Given the description of an element on the screen output the (x, y) to click on. 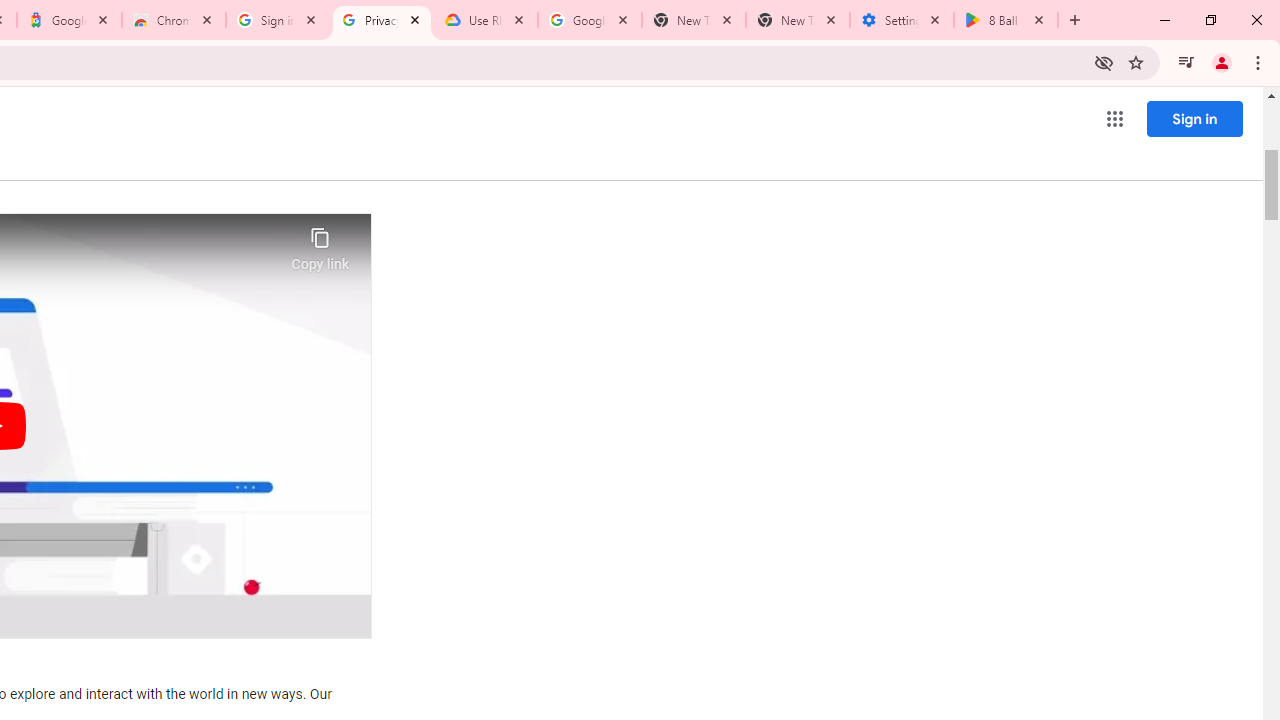
Settings - System (901, 20)
Copy link (319, 244)
Control your music, videos, and more (1185, 62)
New Tab (797, 20)
8 Ball Pool - Apps on Google Play (1005, 20)
